Given the description of an element on the screen output the (x, y) to click on. 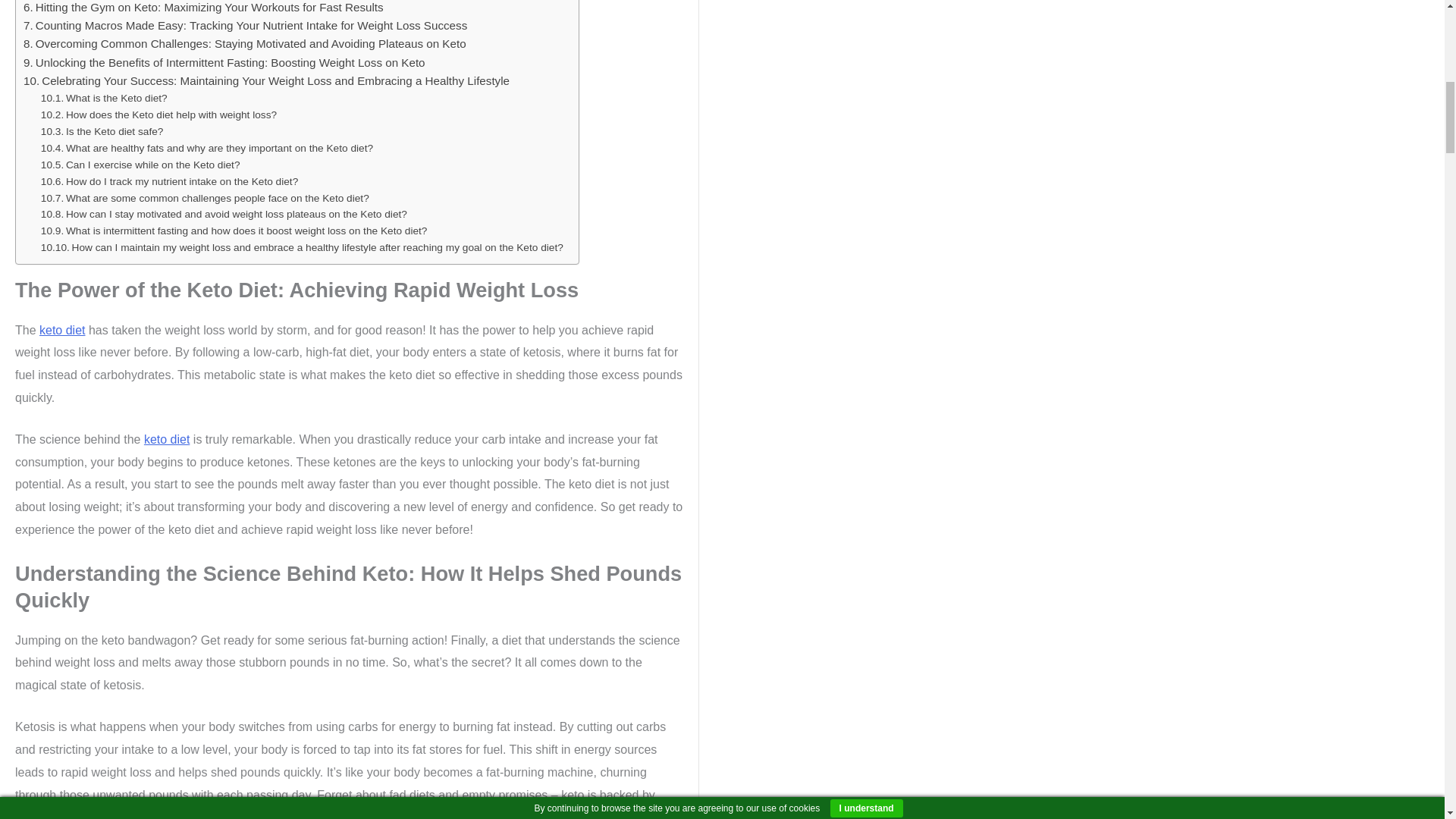
How do I track my nutrient intake on the Keto diet? (169, 181)
How does the Keto diet help with weight loss? (158, 115)
What is the Keto diet? (103, 98)
keto diet (166, 439)
